Given the description of an element on the screen output the (x, y) to click on. 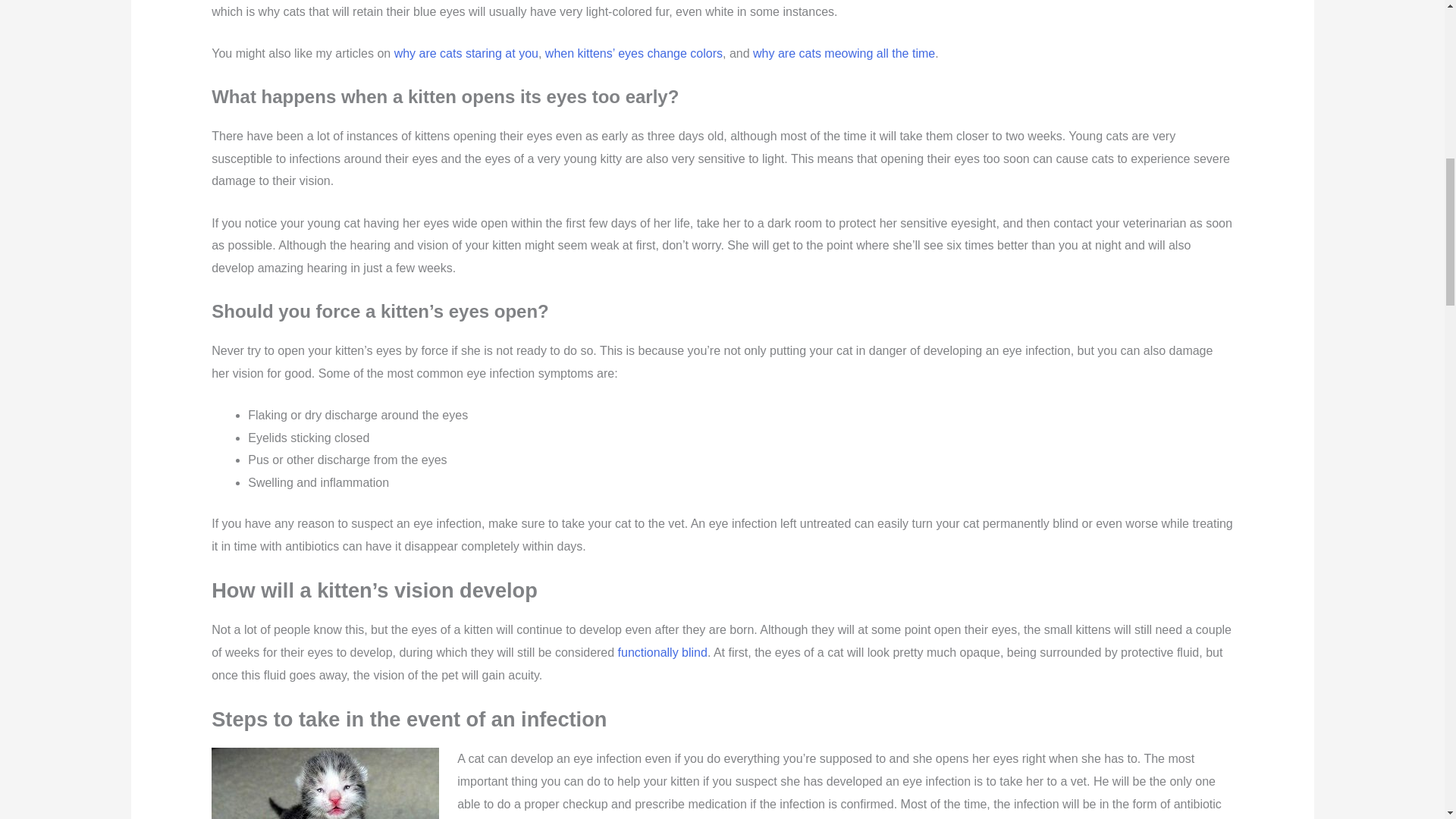
why are cats staring at you (466, 52)
why are cats meowing all the time (843, 52)
When do Kittens Open Their Eyes? 3 (325, 783)
functionally blind (662, 652)
